Given the description of an element on the screen output the (x, y) to click on. 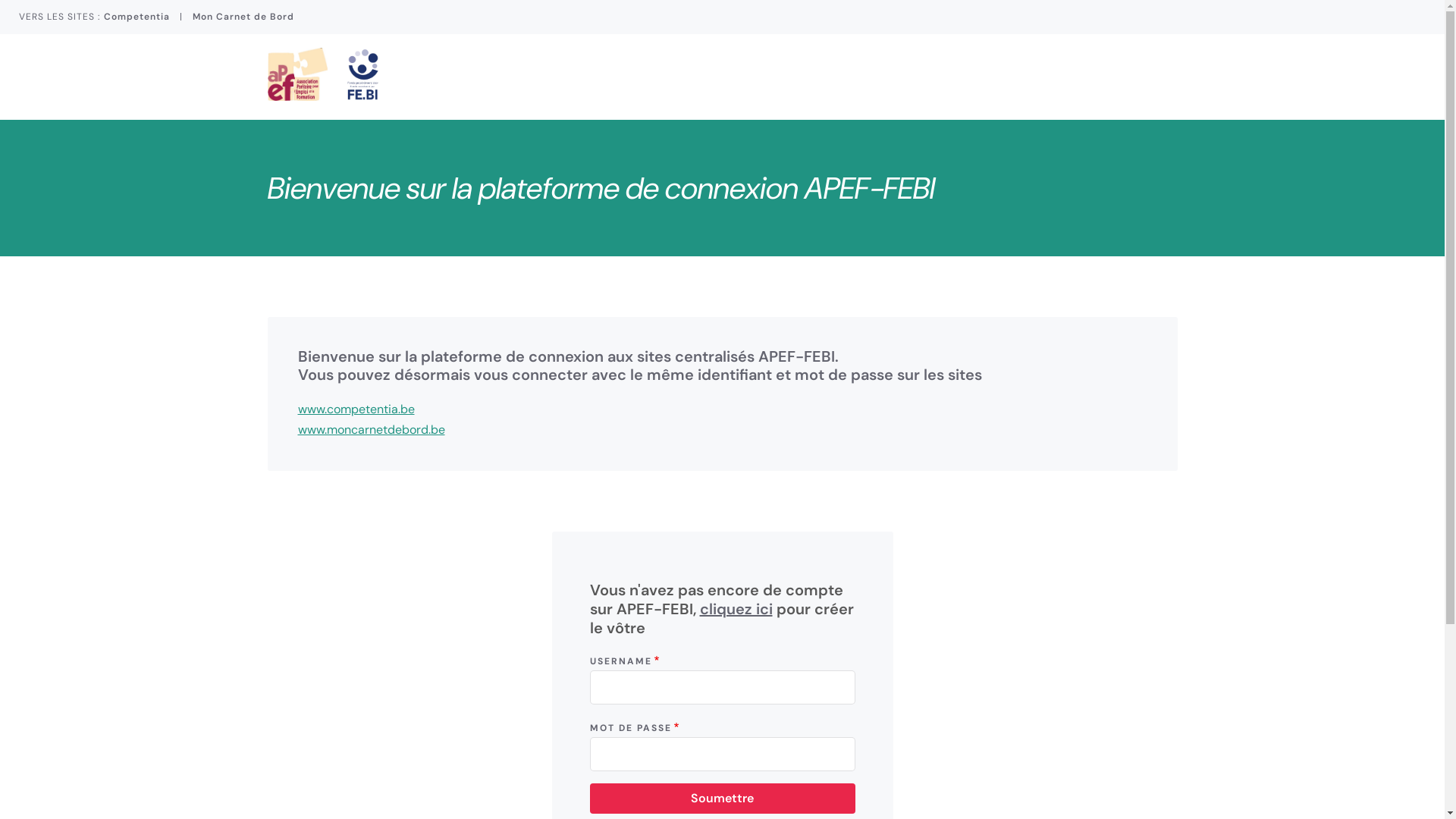
Mon Carnet de Bord Element type: text (243, 16)
Aller au contenu principal Element type: text (0, 0)
Soumettre Element type: text (722, 798)
cliquez ici Element type: text (735, 608)
www.moncarnetdebord.be Element type: text (370, 429)
www.competentia.be Element type: text (355, 409)
Competentia Element type: text (136, 16)
